Given the description of an element on the screen output the (x, y) to click on. 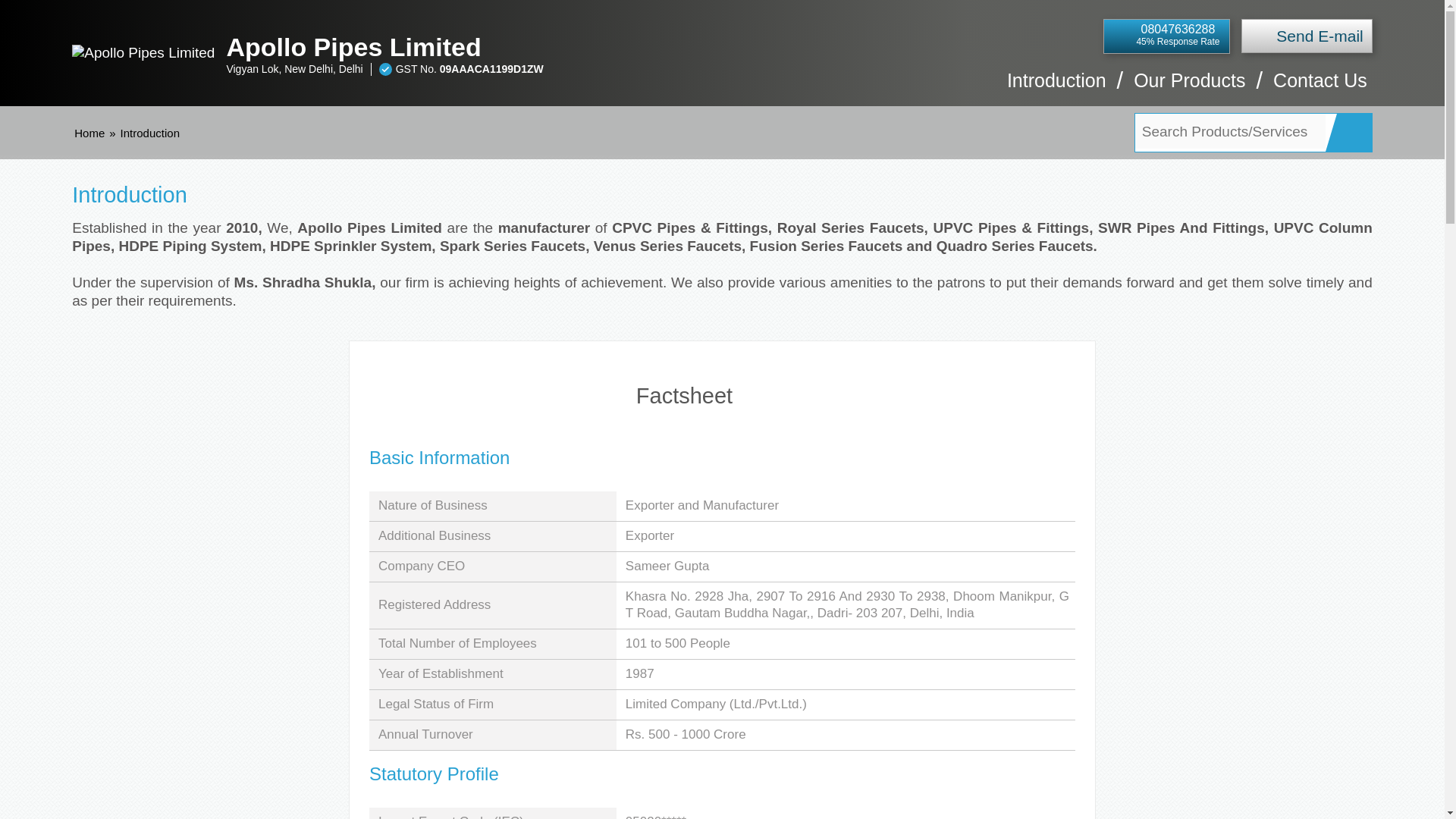
Home (89, 132)
Apollo Pipes Limited (563, 46)
Introduction (1056, 88)
Our Products (1189, 88)
Contact Us (1319, 88)
